Given the description of an element on the screen output the (x, y) to click on. 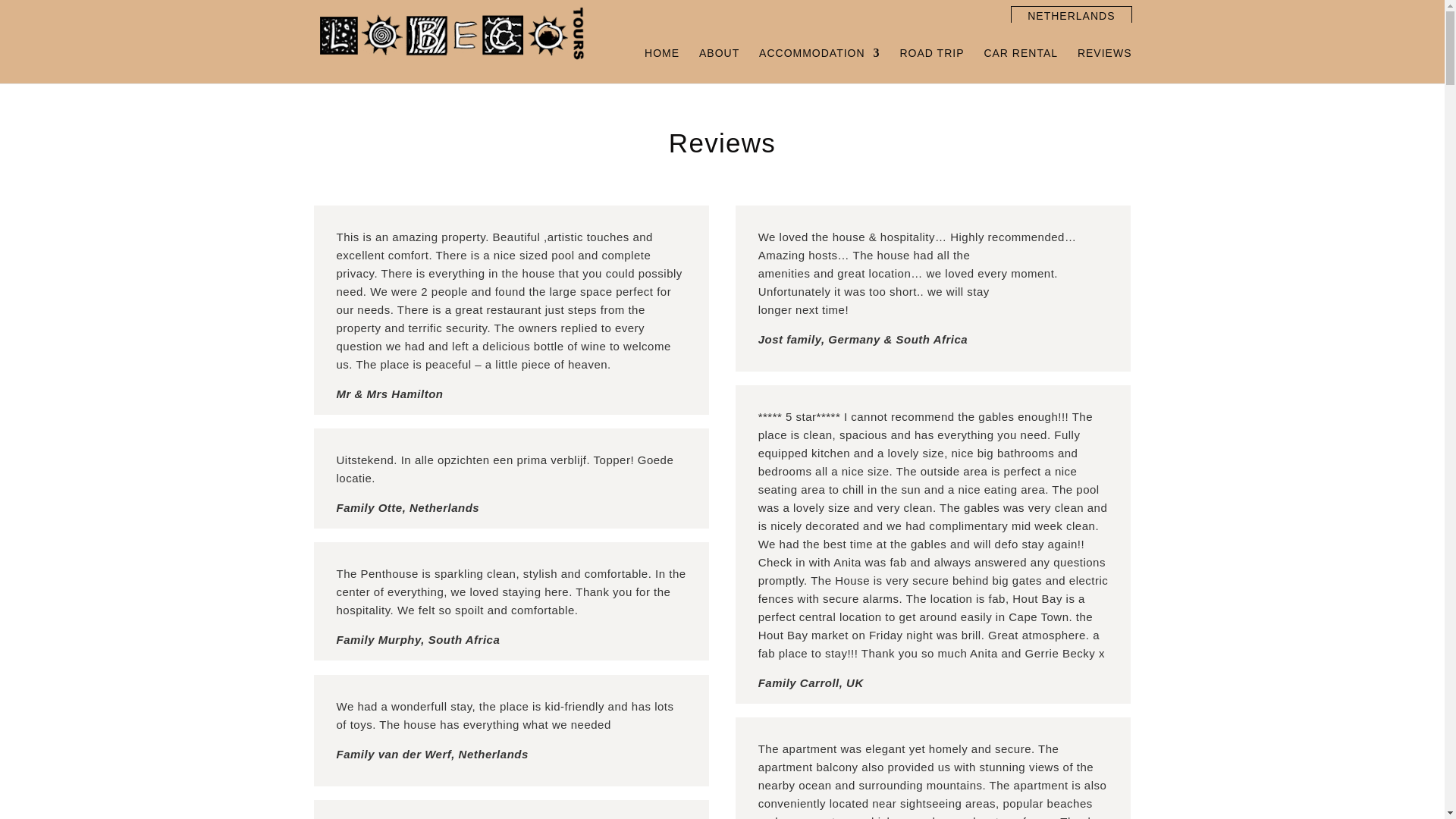
REVIEWS (1104, 65)
CAR RENTAL (1021, 65)
ABOUT (718, 65)
HOME (662, 65)
ROAD TRIP (931, 65)
ACCOMMODATION (819, 65)
NETHERLANDS (1070, 15)
